Given the description of an element on the screen output the (x, y) to click on. 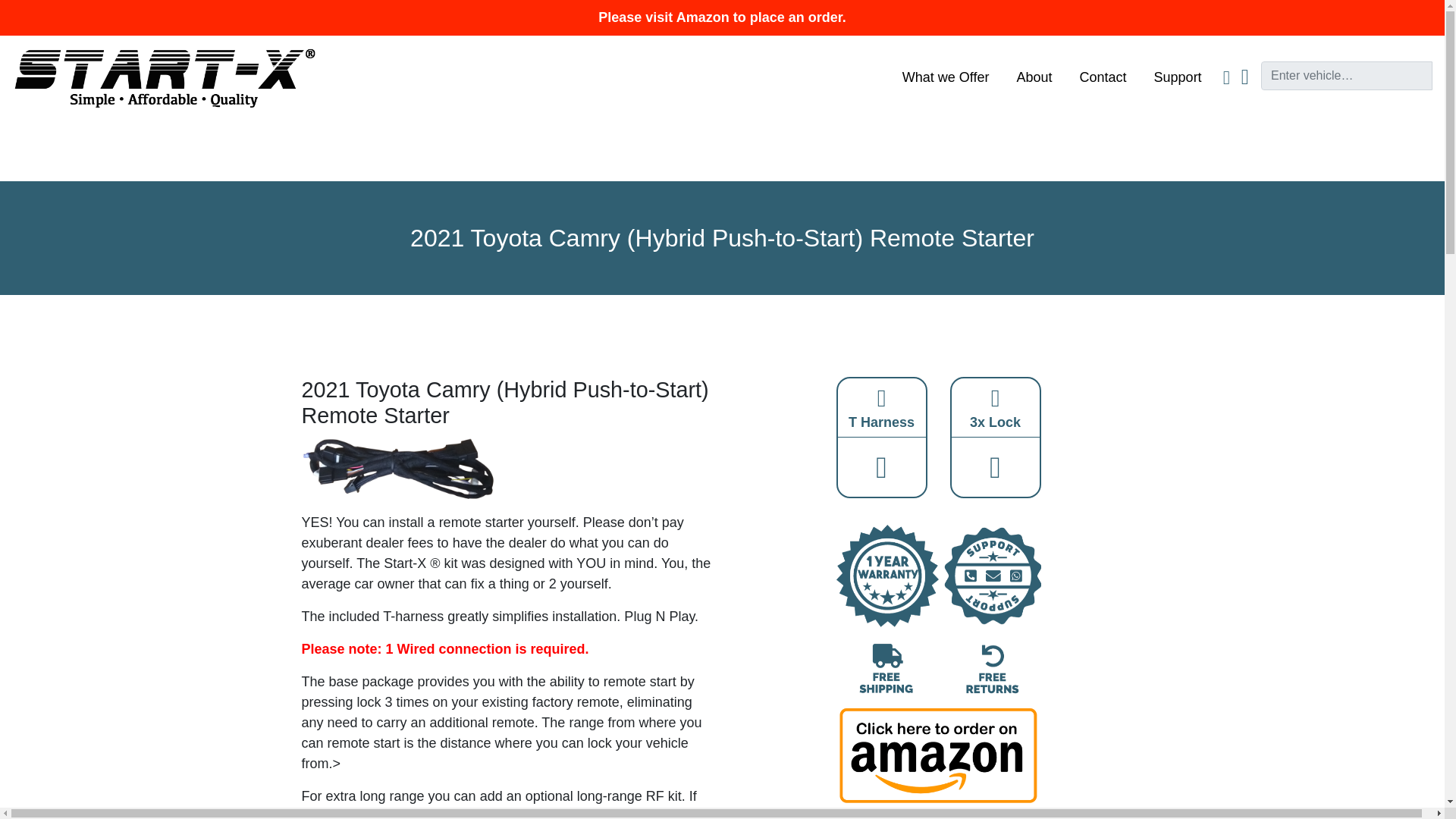
Contact (1103, 77)
About (1034, 77)
Support (1178, 77)
What we Offer (945, 77)
About (1034, 77)
Support (1178, 77)
Contact (1103, 77)
What we Offer (945, 77)
